Given the description of an element on the screen output the (x, y) to click on. 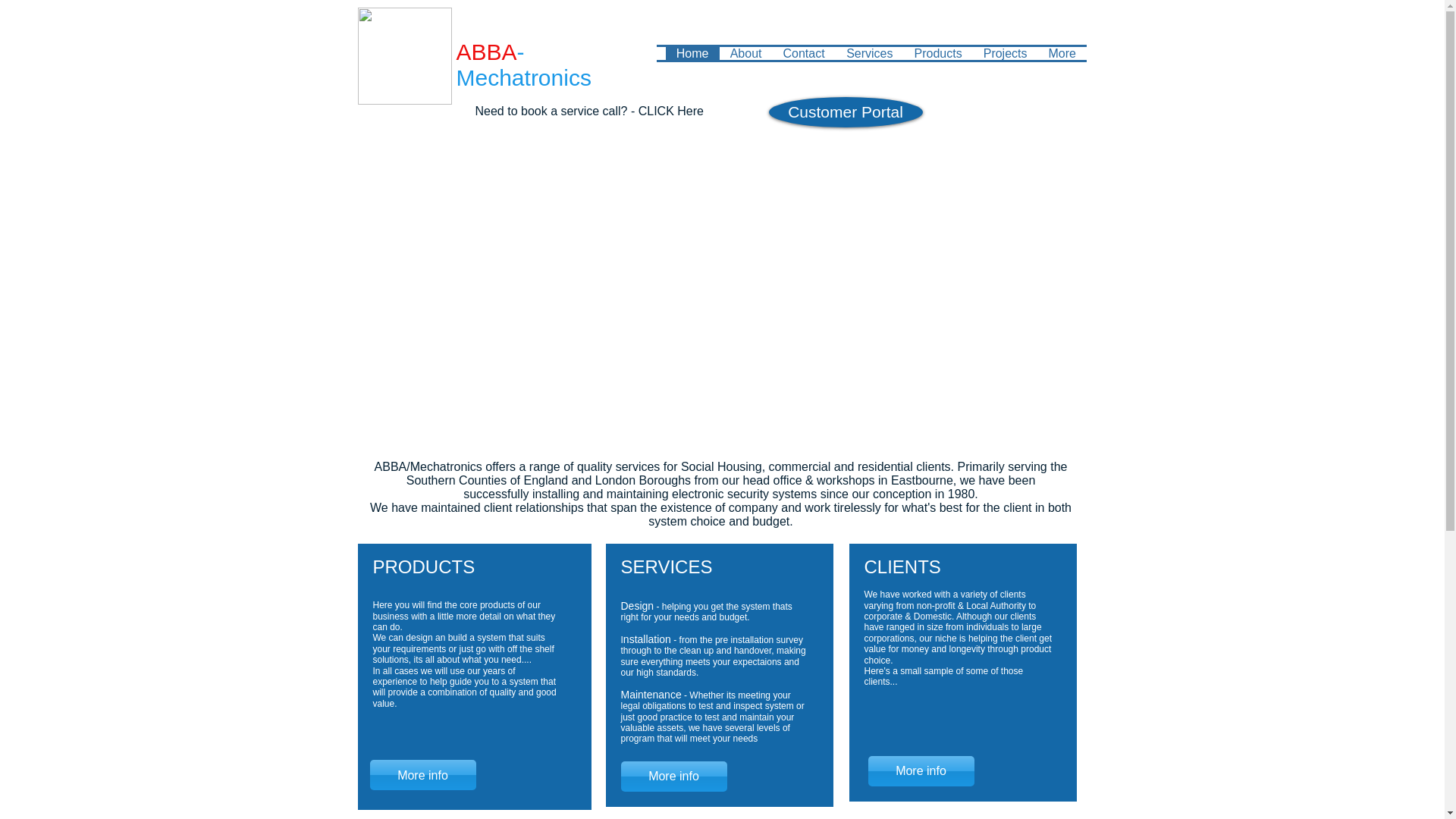
abba logo.jpg (404, 55)
Services (869, 52)
More info (422, 775)
More info (920, 770)
Contact (802, 52)
More info (673, 776)
ABBA-Mechatronics (524, 64)
Customer Portal (845, 112)
Home (692, 52)
About (745, 52)
